Given the description of an element on the screen output the (x, y) to click on. 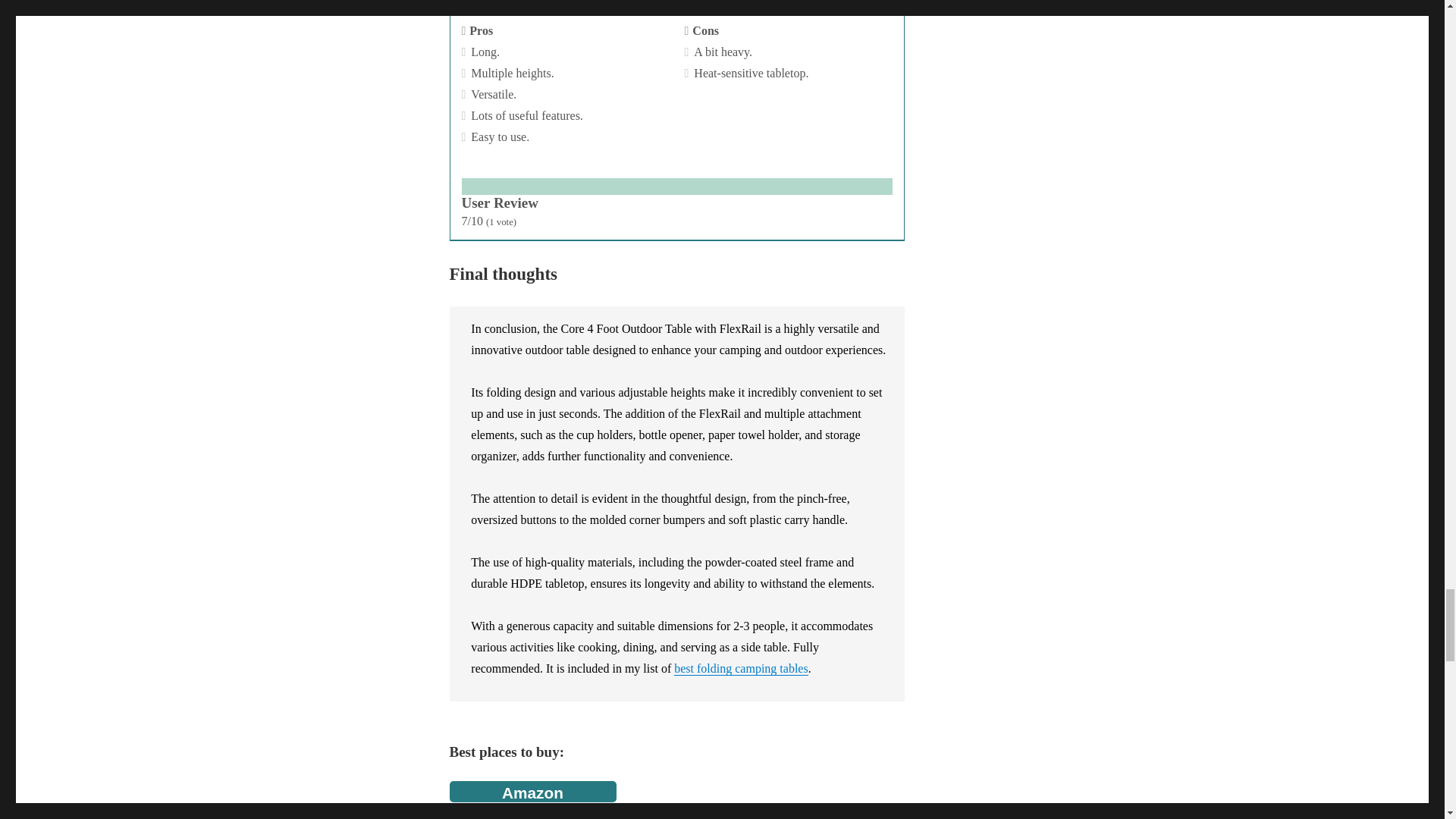
Amazon (531, 791)
best folding camping tables (741, 667)
Best Rated Folding Camping Tables (741, 667)
